Given the description of an element on the screen output the (x, y) to click on. 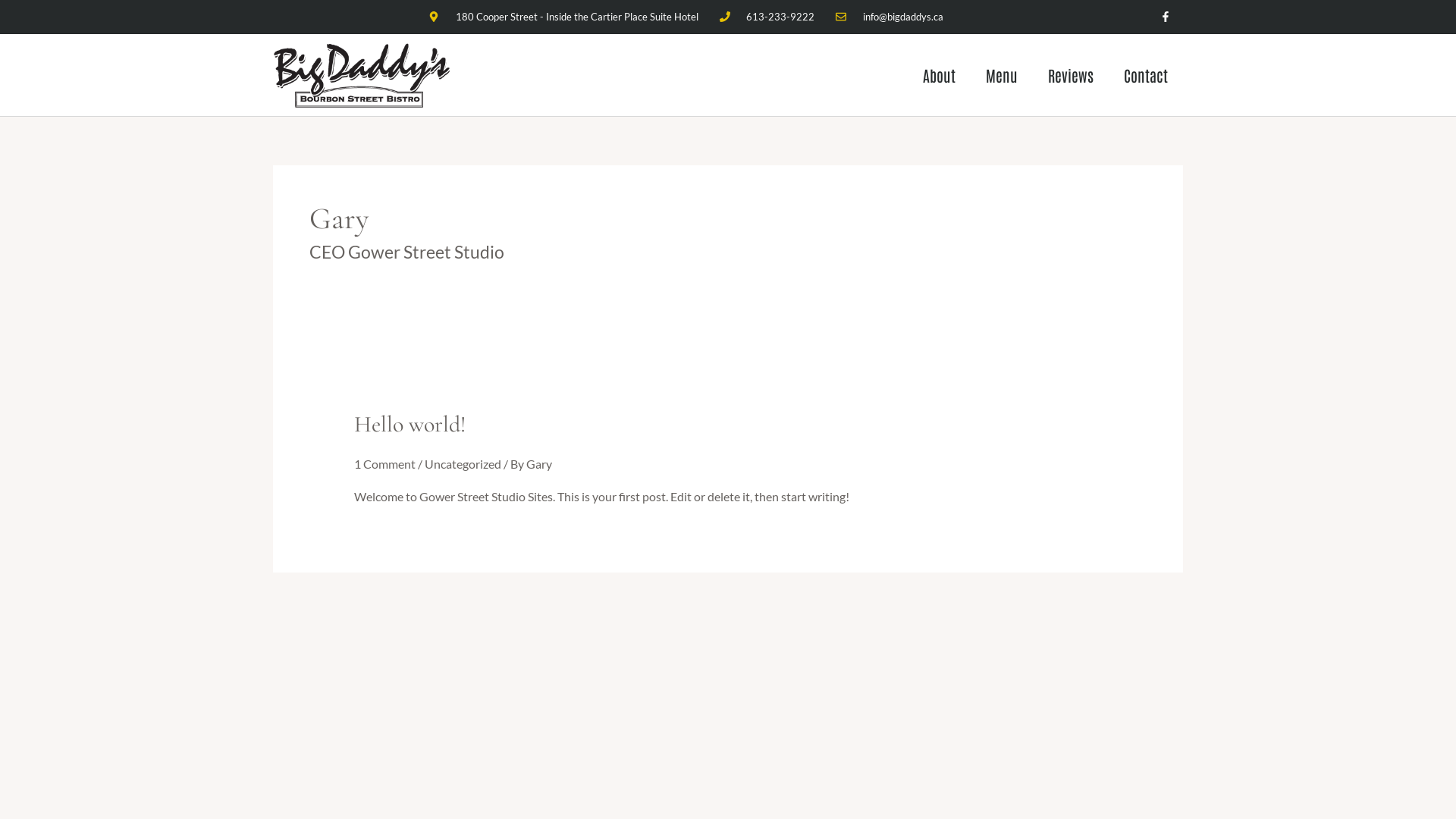
Gary Element type: text (539, 463)
Reviews Element type: text (1070, 75)
Hello world! Element type: text (409, 424)
About Element type: text (938, 75)
Uncategorized Element type: text (462, 463)
info@bigdaddys.ca Element type: text (889, 16)
180 Cooper Street - Inside the Cartier Place Suite Hotel Element type: text (563, 16)
Facebook-f Element type: text (1165, 17)
Contact Element type: text (1145, 75)
1 Comment Element type: text (384, 463)
Menu Element type: text (1001, 75)
613-233-9222 Element type: text (767, 16)
